Given the description of an element on the screen output the (x, y) to click on. 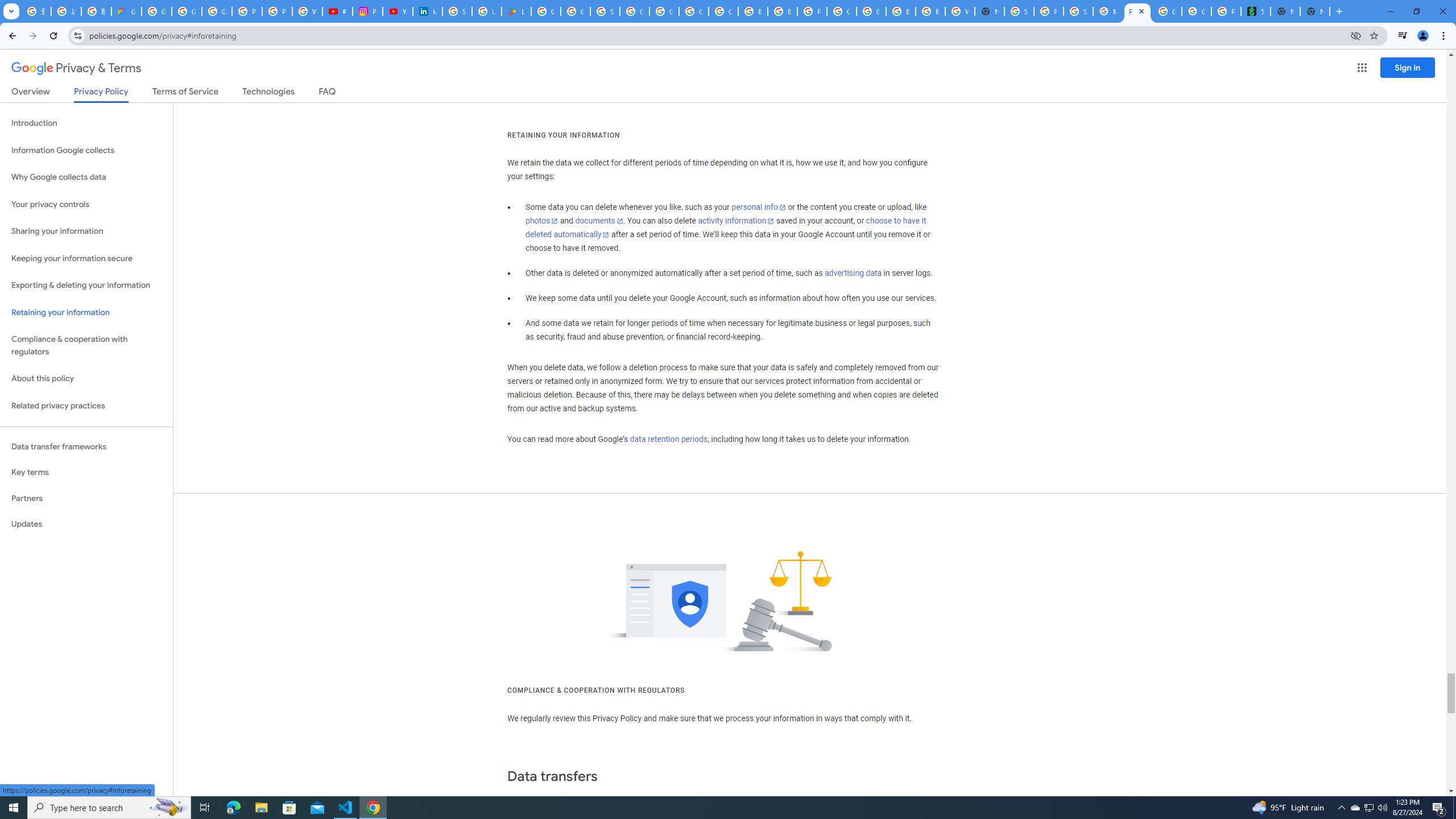
Sign in - Google Accounts (604, 11)
Partners (86, 497)
Google Cloud Platform (871, 11)
New Tab (1314, 11)
activity information (735, 221)
About this policy (86, 379)
Browse Chrome as a guest - Computer - Google Chrome Help (782, 11)
Google Workspace - Specific Terms (575, 11)
Information Google collects (86, 150)
